Given the description of an element on the screen output the (x, y) to click on. 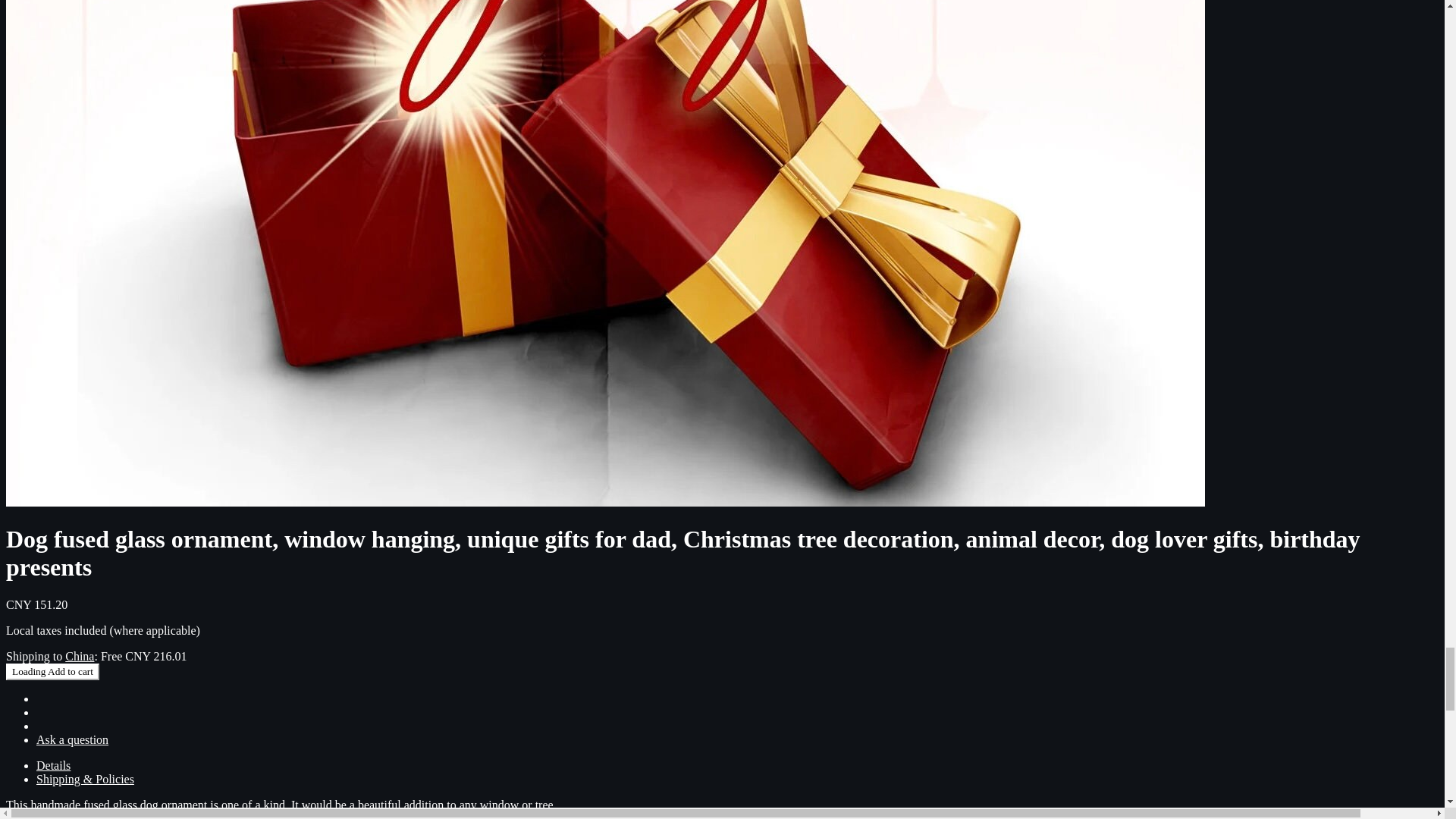
China (79, 656)
Loading Add to cart (52, 671)
Details (52, 765)
Ask a question (71, 739)
